Given the description of an element on the screen output the (x, y) to click on. 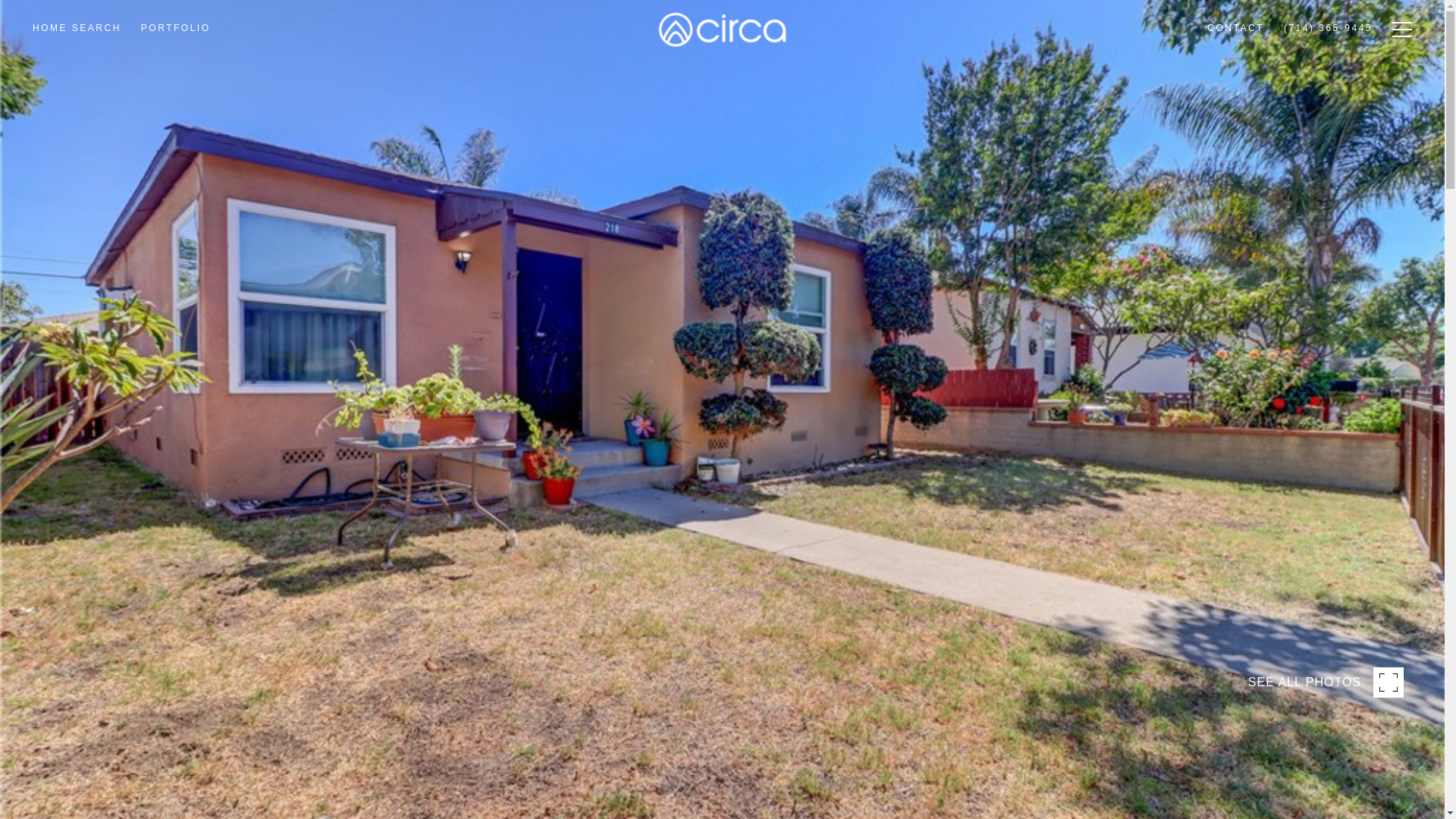
PORTFOLIO (176, 69)
HOME SEARCH (77, 69)
CONTACT (1235, 64)
